Given the description of an element on the screen output the (x, y) to click on. 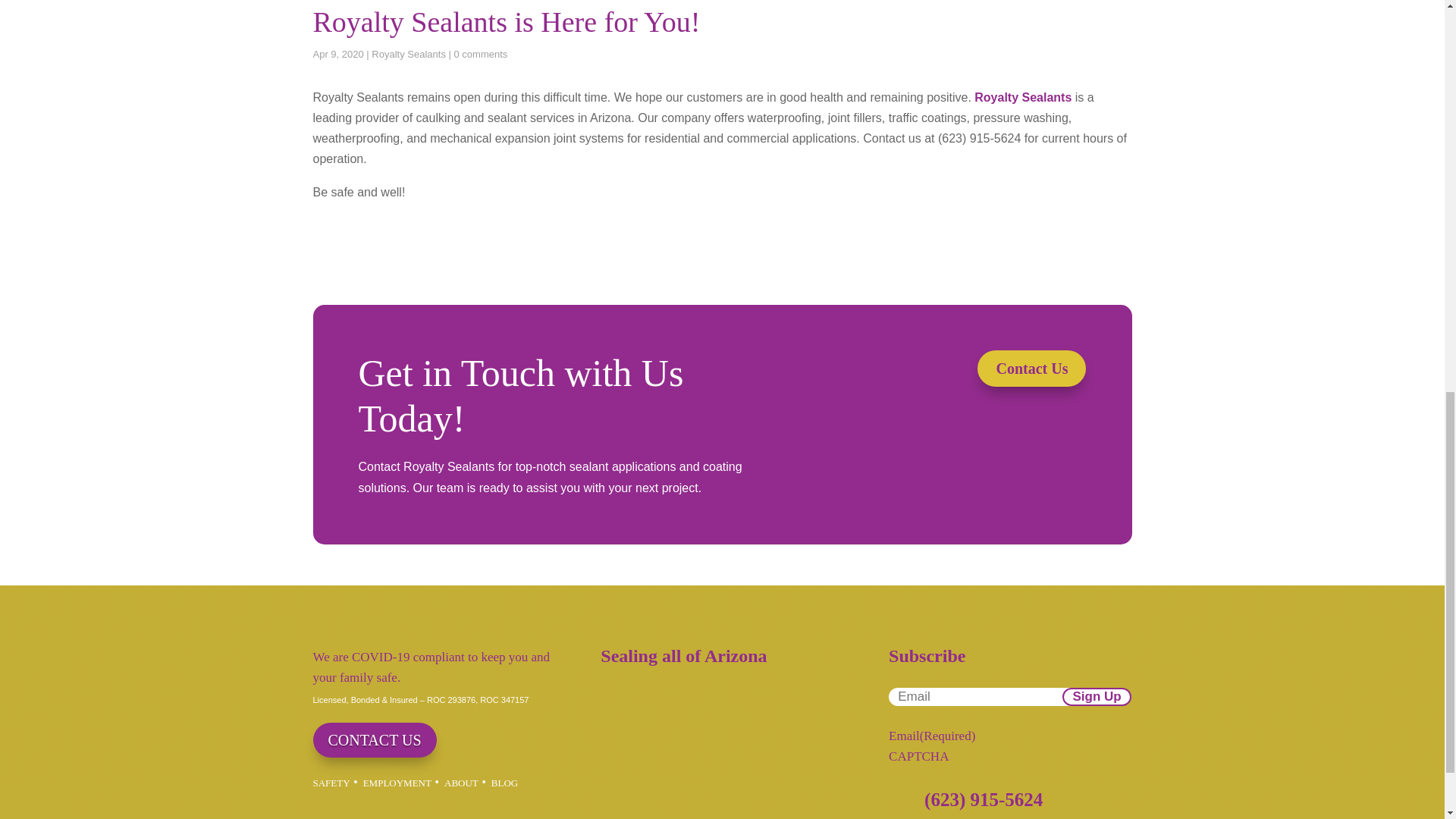
EMPLOYMENT (396, 782)
SAFETY (331, 782)
BLOG (505, 782)
ABOUT (461, 782)
CONTACT US (374, 739)
Contact Us (1031, 368)
0 comments (479, 53)
Royalty Sealants (408, 53)
Sign Up (1097, 696)
Royalty Sealants (1022, 97)
Sign Up (1097, 696)
